Given the description of an element on the screen output the (x, y) to click on. 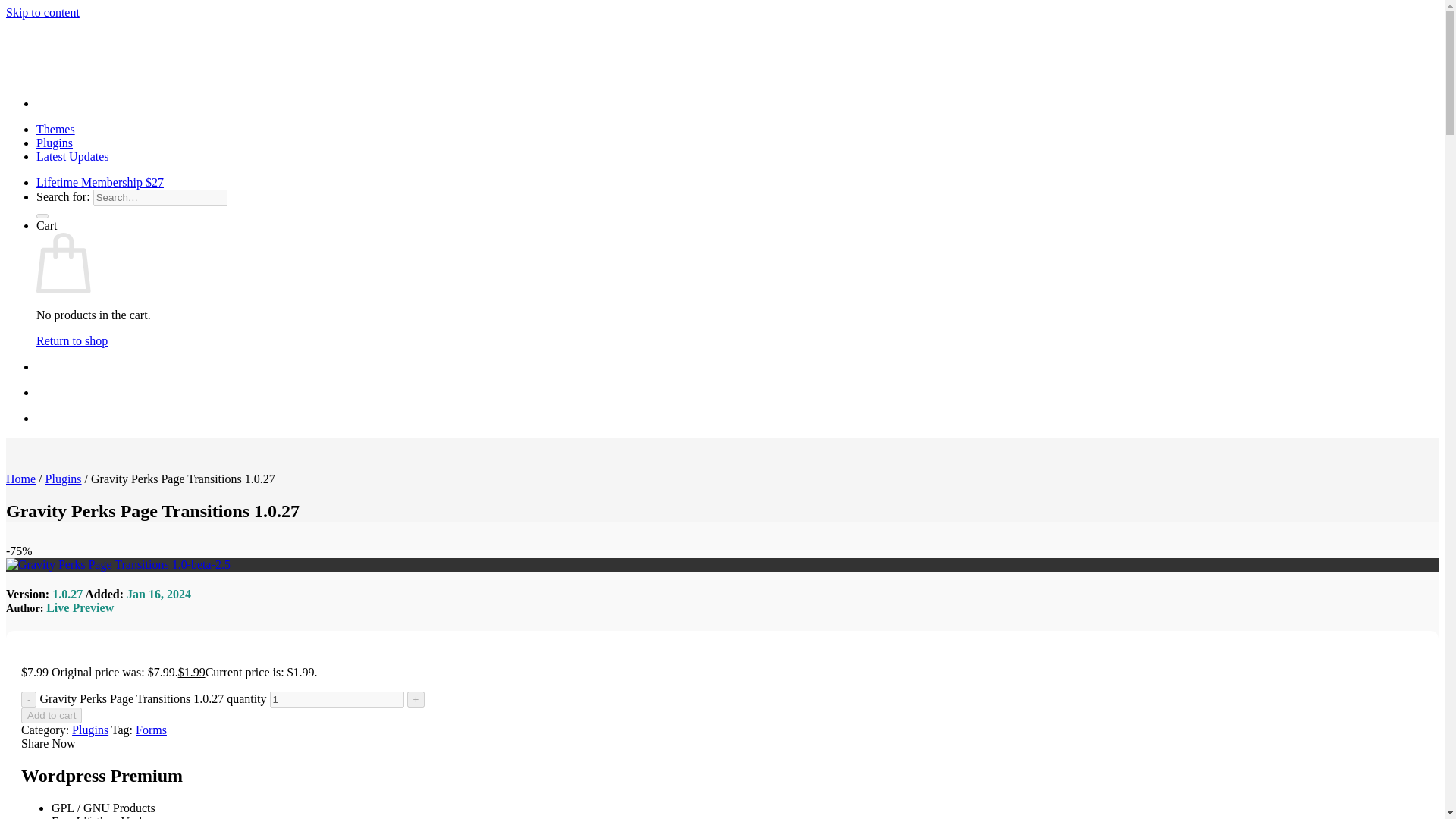
Skip to content (42, 11)
Return to shop (71, 340)
Plugins (54, 142)
Live Preview (79, 607)
Search (42, 215)
Forms (151, 729)
Gravity Perks Page Transitions 1.0.27 1 (117, 564)
- (28, 699)
1 (336, 699)
Home (19, 478)
GPL Scripts - Wordpress Premium Themes and Plugins (252, 77)
Add to cart (51, 715)
Latest Updates (72, 155)
Themes (55, 128)
Plugins (63, 478)
